Given the description of an element on the screen output the (x, y) to click on. 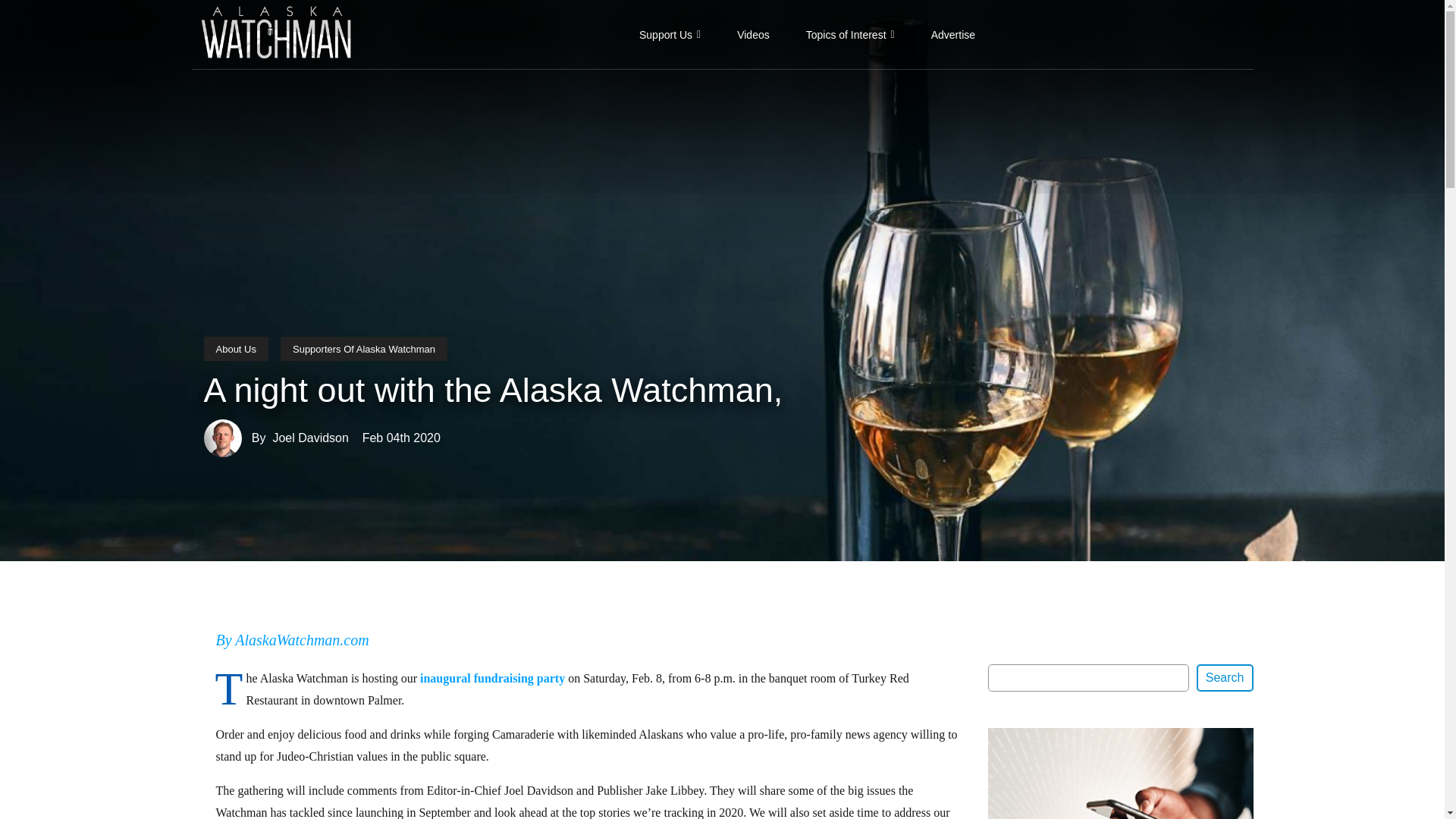
Topics of Interest (849, 34)
Advertise (952, 34)
Videos (753, 34)
Support Us (669, 34)
